Given the description of an element on the screen output the (x, y) to click on. 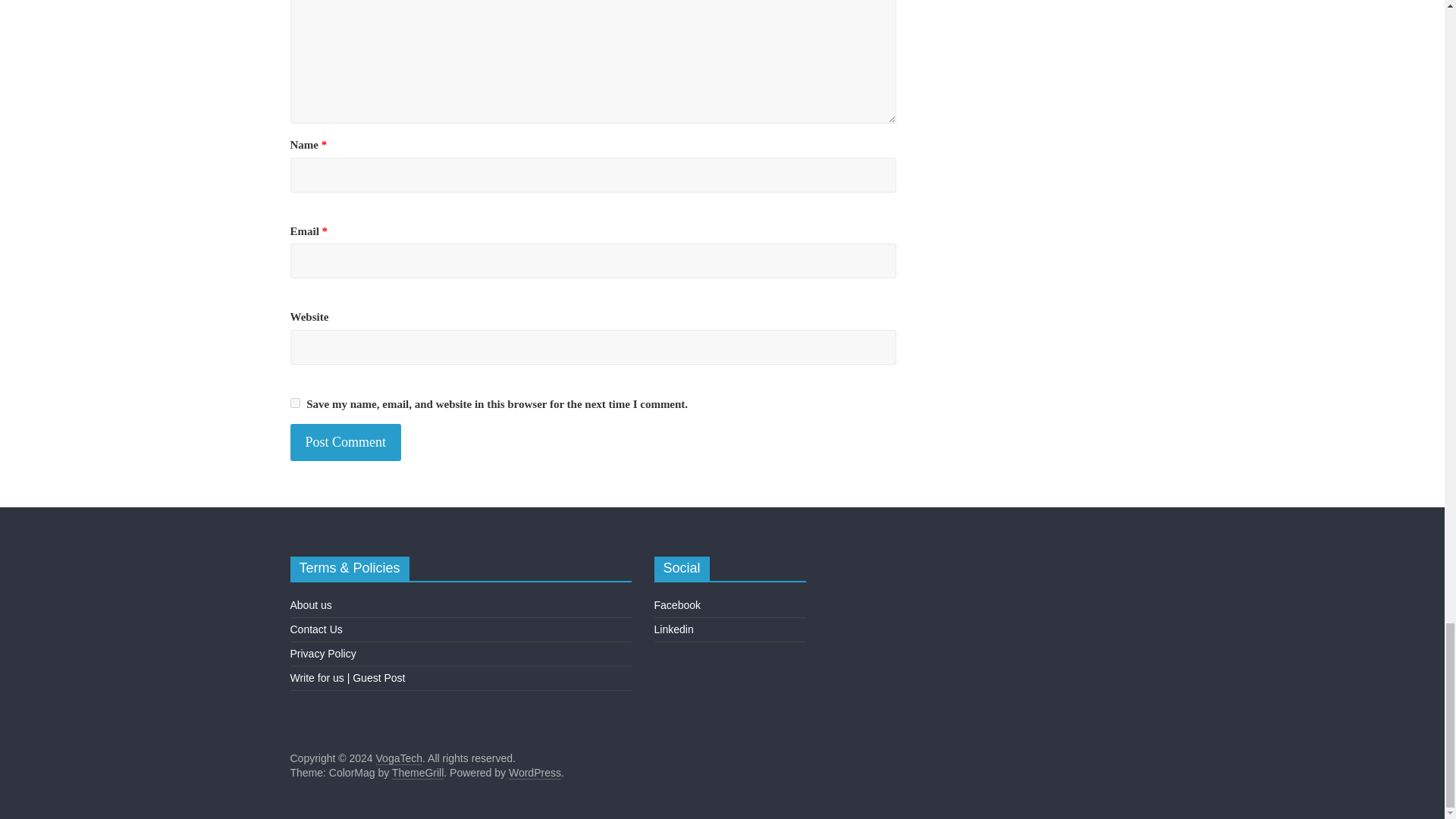
yes (294, 402)
Post Comment (345, 442)
